Given the description of an element on the screen output the (x, y) to click on. 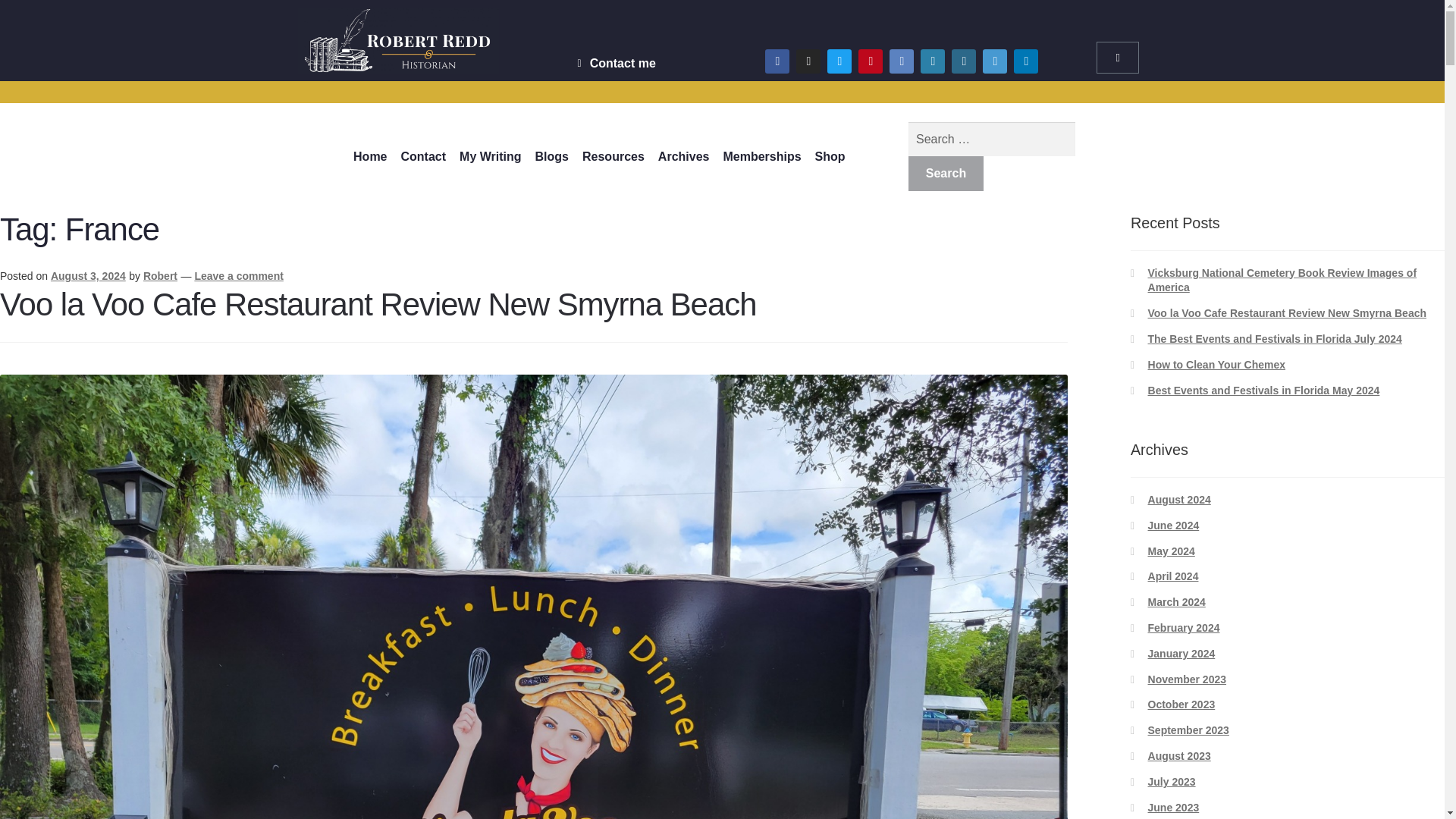
Contact me (613, 63)
Blogs (551, 156)
Archives (683, 156)
Search (946, 173)
Search (946, 173)
Contact (423, 156)
Memberships (762, 156)
Robert (159, 275)
Resources (612, 156)
August 3, 2024 (87, 275)
